Given the description of an element on the screen output the (x, y) to click on. 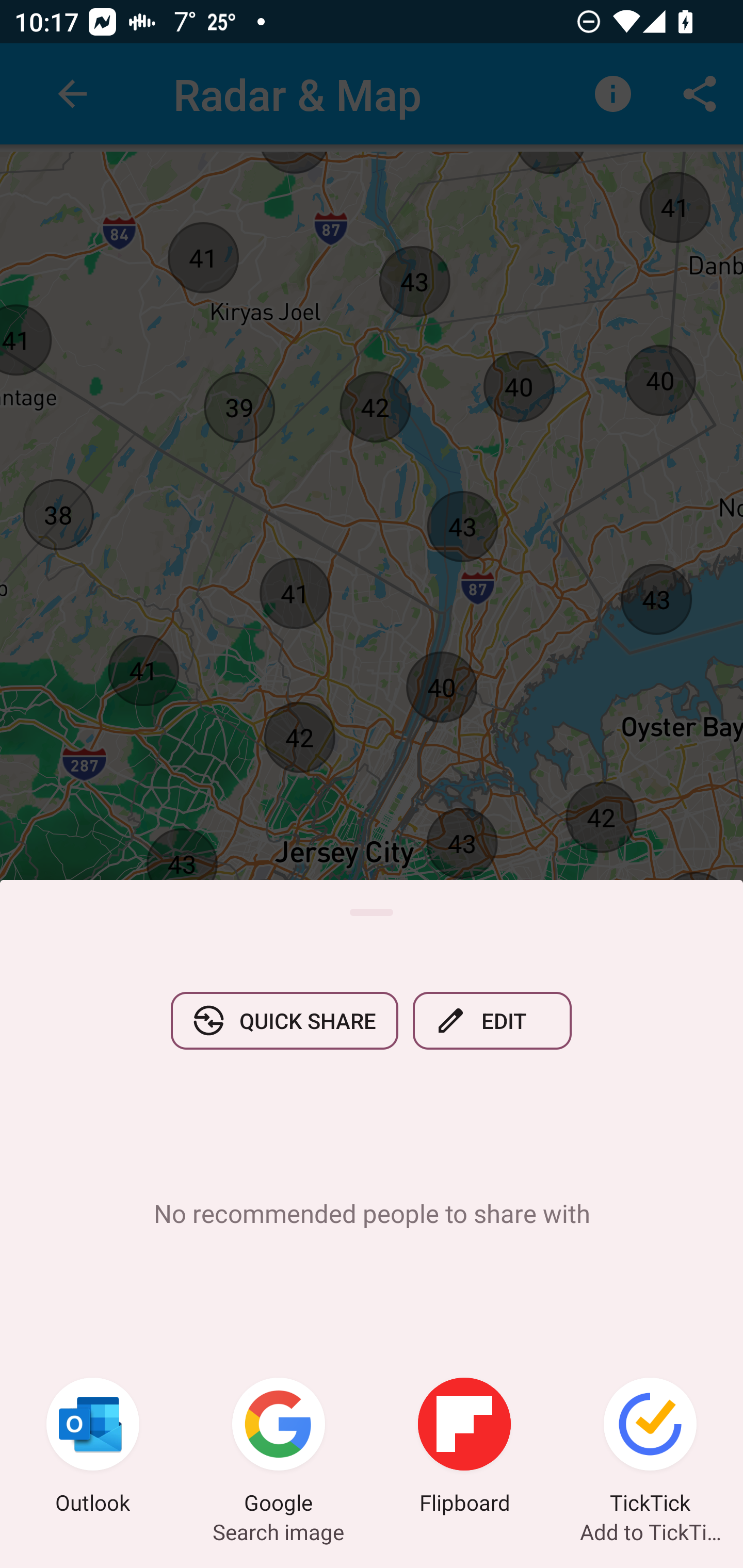
QUICK SHARE (284, 1020)
EDIT (492, 1020)
Outlook (92, 1448)
Google Search image (278, 1448)
Flipboard (464, 1448)
TickTick Add to TickTick (650, 1448)
